Given the description of an element on the screen output the (x, y) to click on. 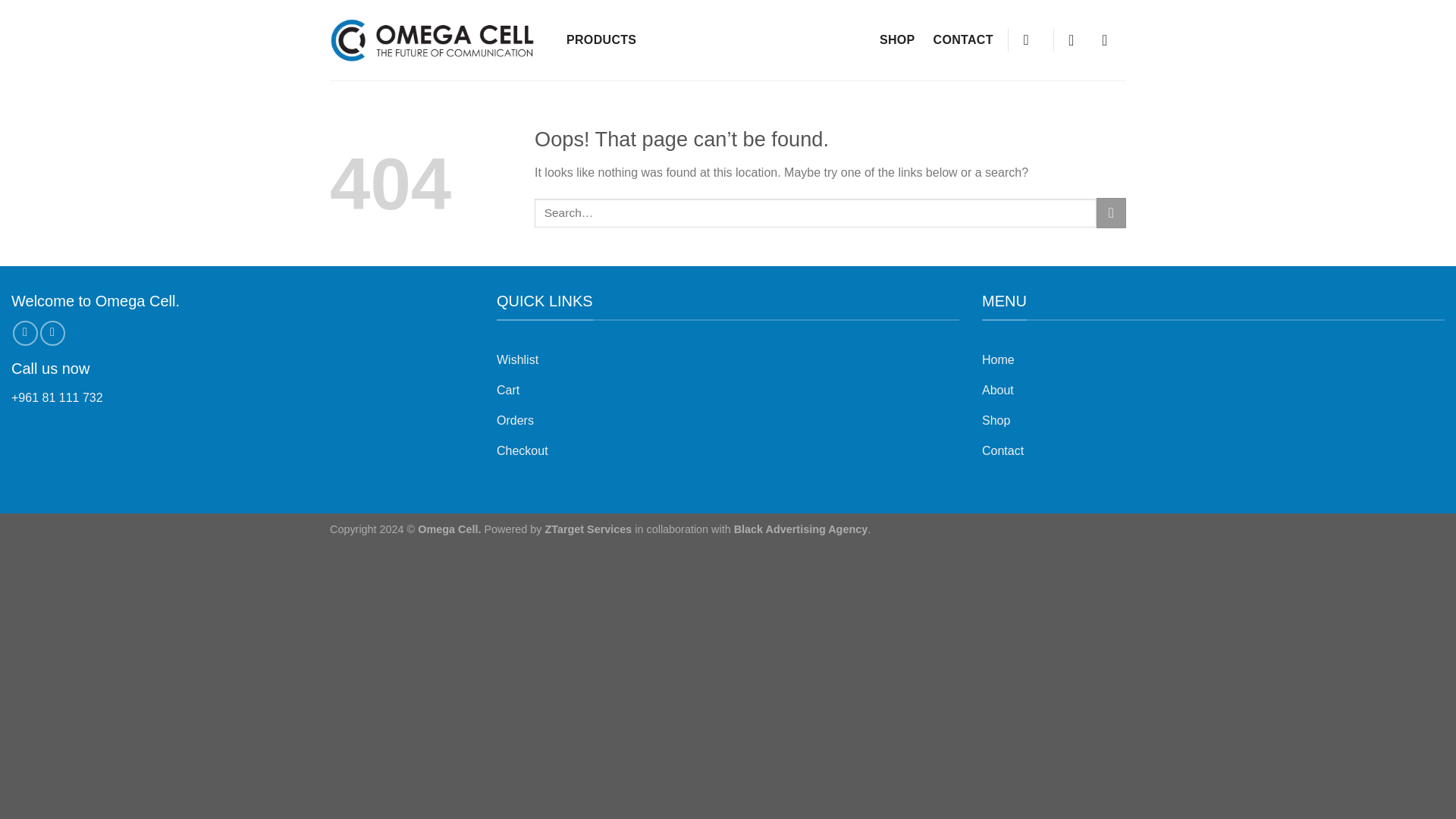
SHOP (897, 39)
About (1212, 391)
Home (1212, 361)
Orders (727, 422)
Contact (1212, 452)
Cart (1076, 40)
Omega Cell - The Future Of Communication (432, 40)
Cart (727, 391)
Black Advertising Agency (800, 529)
Wishlist (727, 361)
Checkout (727, 452)
Shop (1212, 422)
PRODUCTS (601, 39)
CONTACT (963, 39)
